Given the description of an element on the screen output the (x, y) to click on. 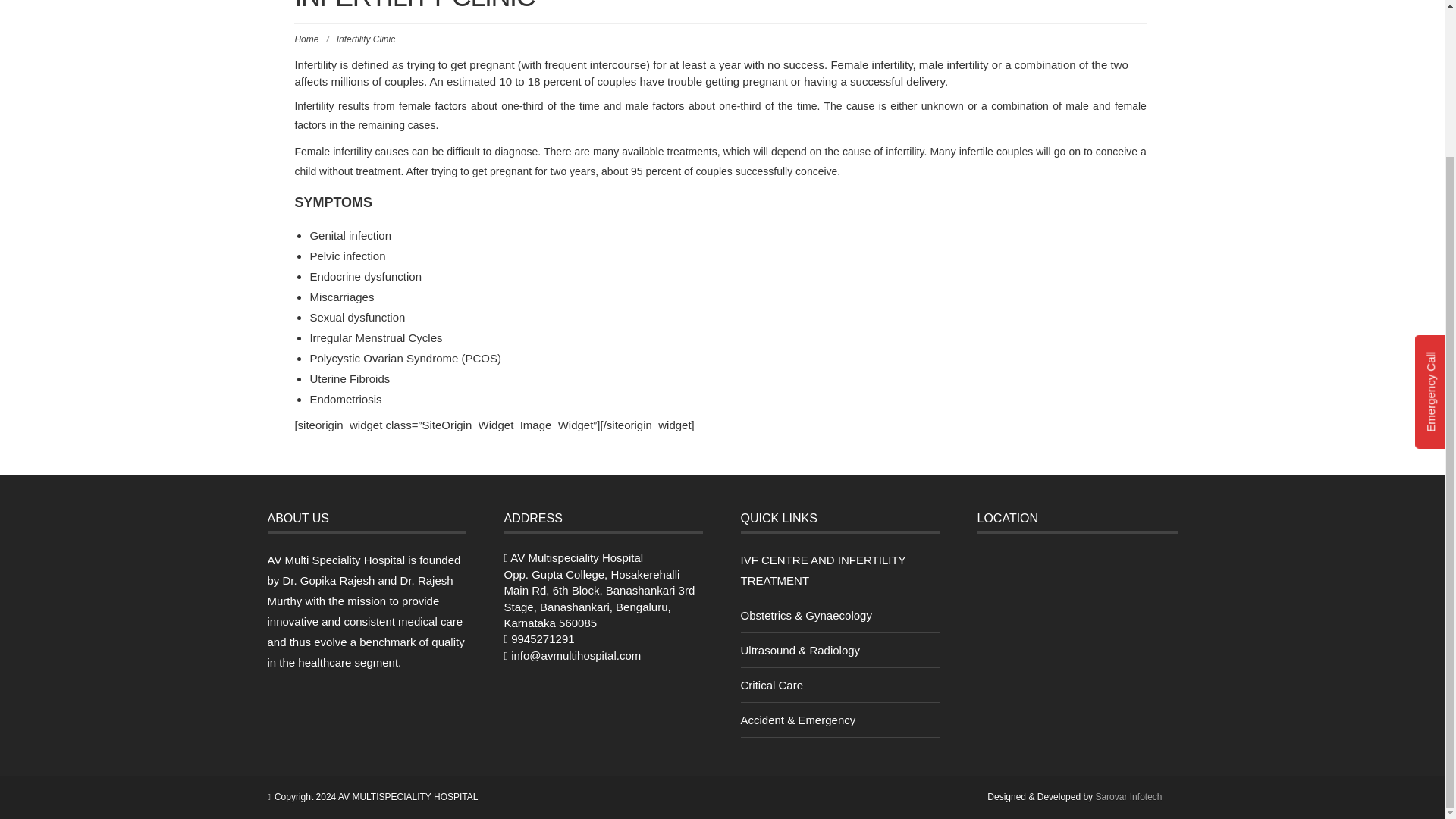
Home (306, 39)
